Given the description of an element on the screen output the (x, y) to click on. 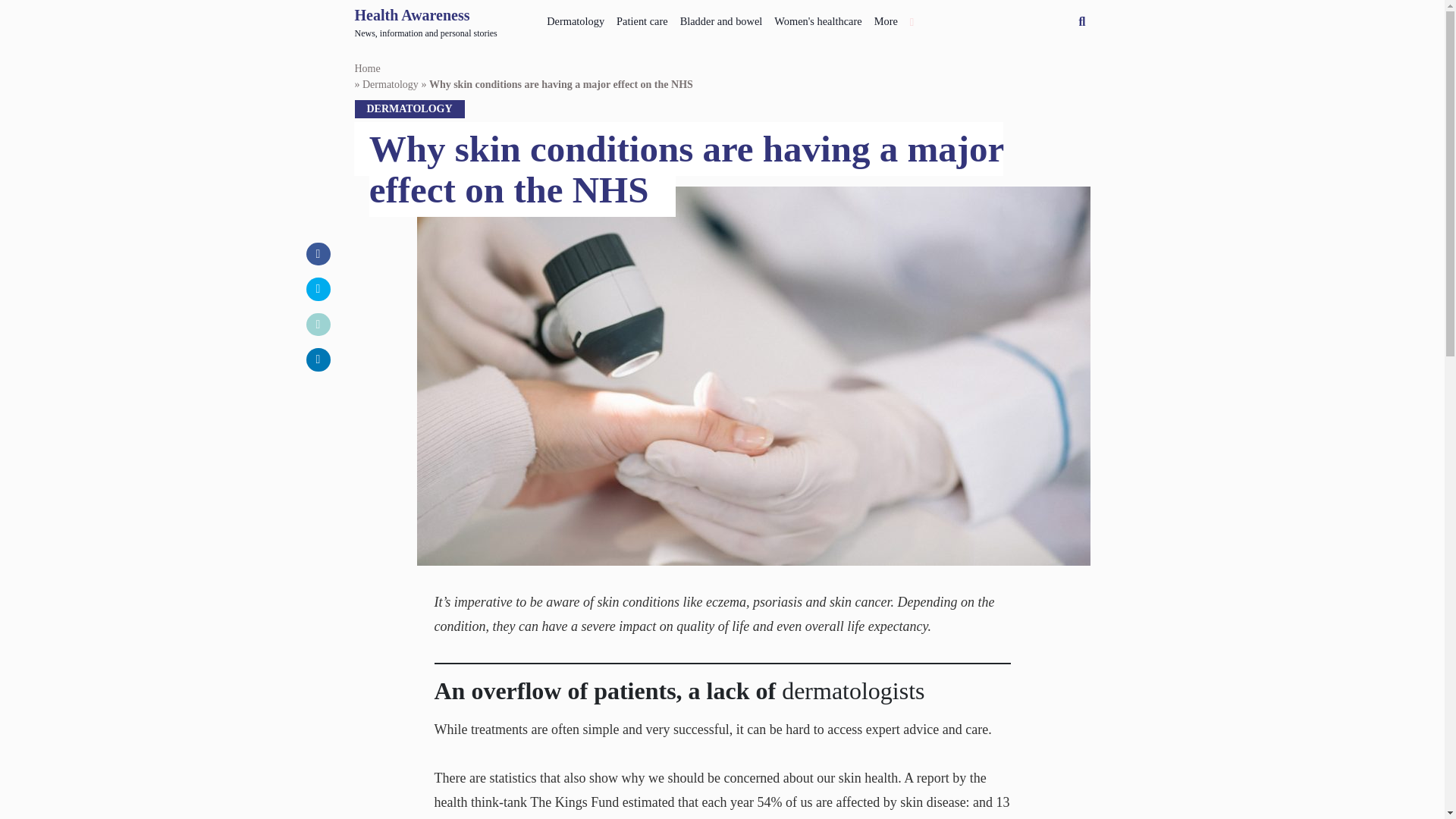
Women's healthcare (817, 18)
Bladder and bowel (721, 18)
More (426, 22)
Dermatology (885, 18)
Patient care (575, 18)
